Given the description of an element on the screen output the (x, y) to click on. 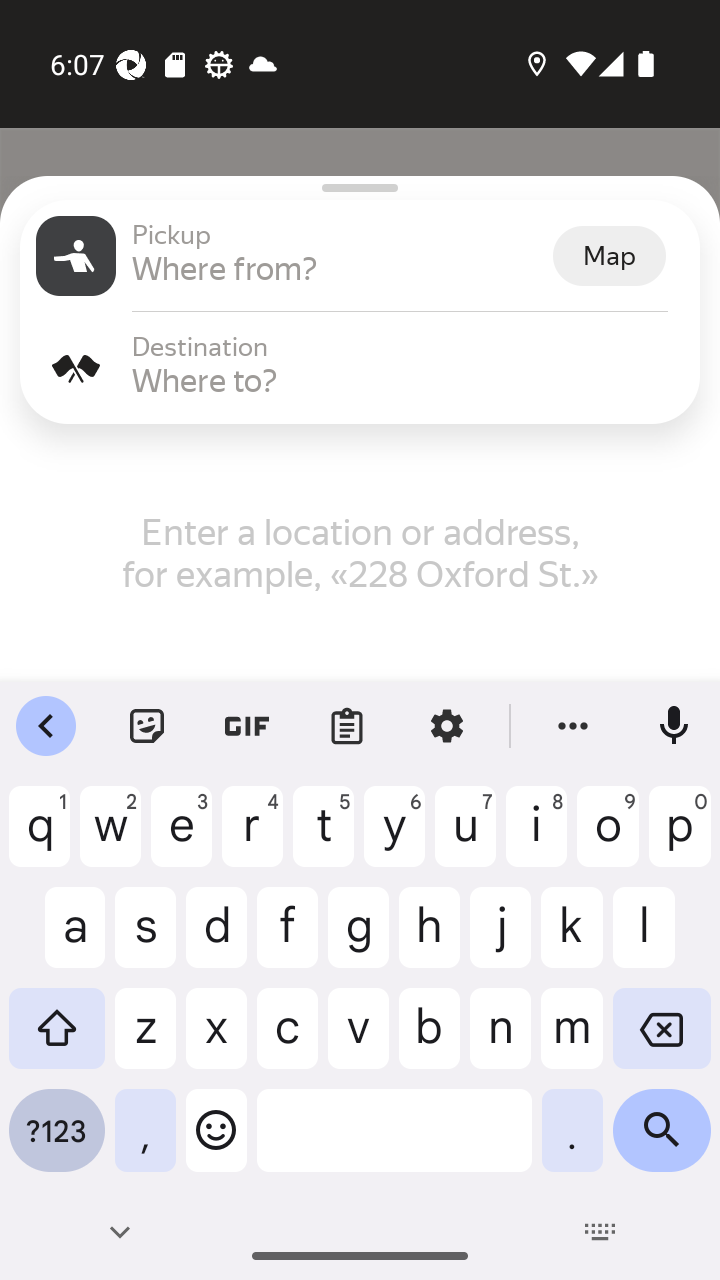
Pickup Pickup Where from? Map (359, 255)
Map (609, 256)
Where from? (340, 268)
Destination Destination Where to? (359, 367)
Where to? (407, 380)
